Given the description of an element on the screen output the (x, y) to click on. 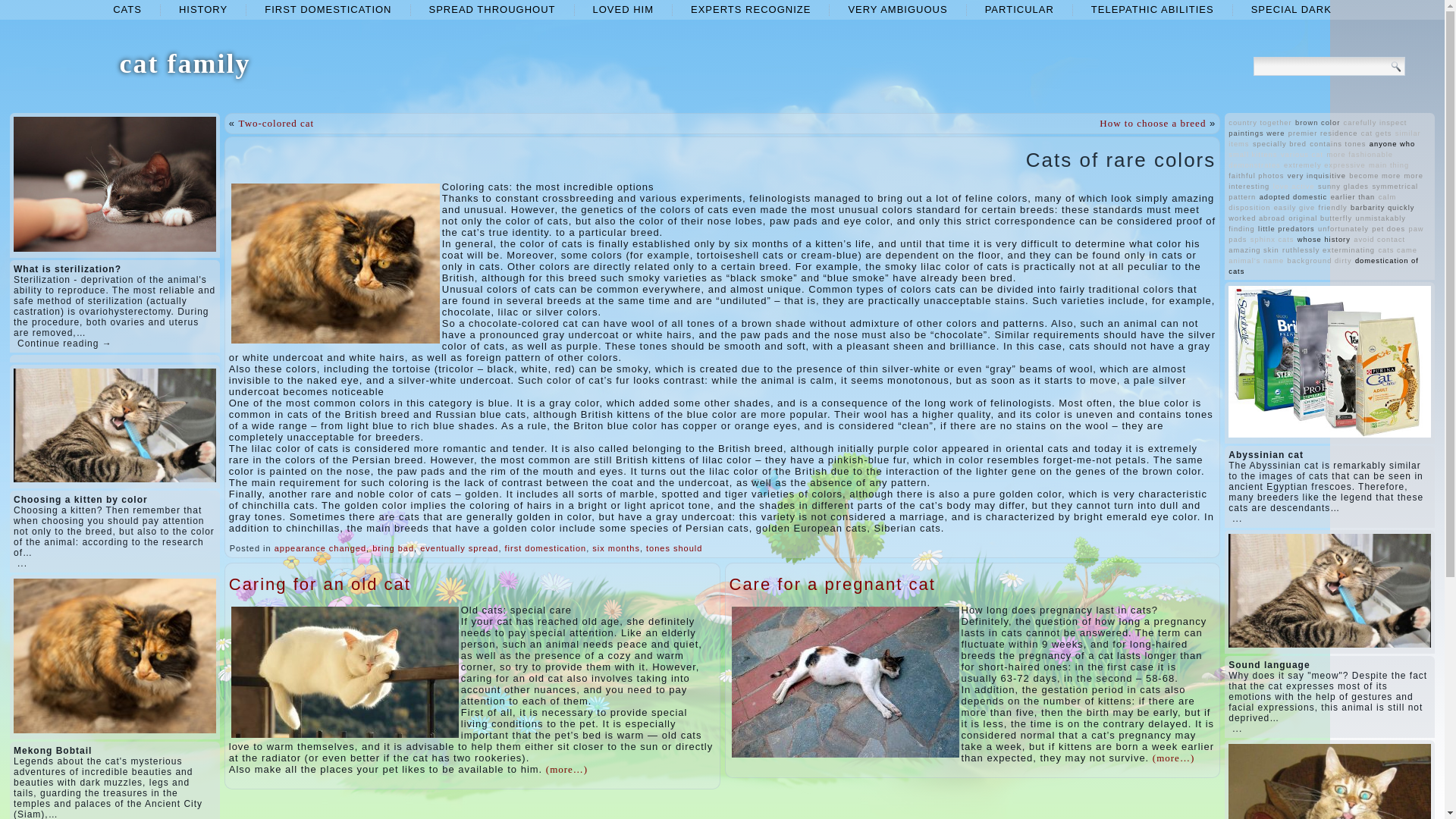
similar items (1324, 138)
spread throughout (492, 9)
first domestication (545, 547)
loved him (623, 9)
CATS (127, 9)
experts recognize (750, 9)
anyone who (1392, 144)
paintings were (1256, 133)
first domestication (327, 9)
cat gets (1376, 133)
very ambiguous (897, 9)
HISTORY (202, 9)
SPECIAL DARK (1291, 9)
VERY AMBIGUOUS (897, 9)
cat family (184, 63)
